Given the description of an element on the screen output the (x, y) to click on. 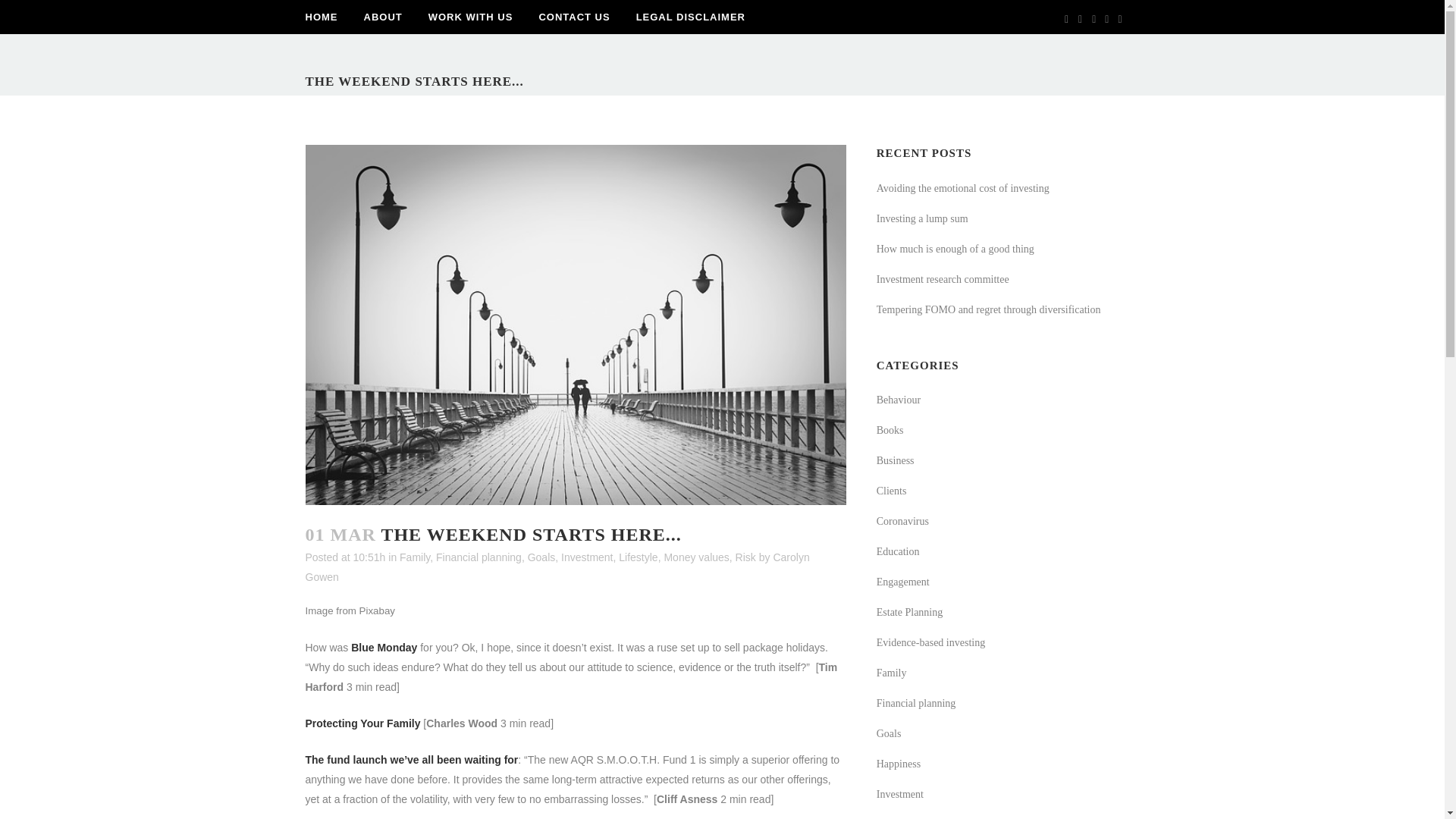
Family (413, 557)
HOME (327, 17)
ABOUT (382, 17)
Carolyn Gowen (556, 567)
WORK WITH US (469, 17)
LEGAL DISCLAIMER (690, 17)
Risk (745, 557)
Investment (586, 557)
Lifestyle (638, 557)
Financial planning (478, 557)
Money values (696, 557)
Goals (541, 557)
Protecting Your Family (362, 723)
CONTACT US (574, 17)
Blue Monday (383, 647)
